Given the description of an element on the screen output the (x, y) to click on. 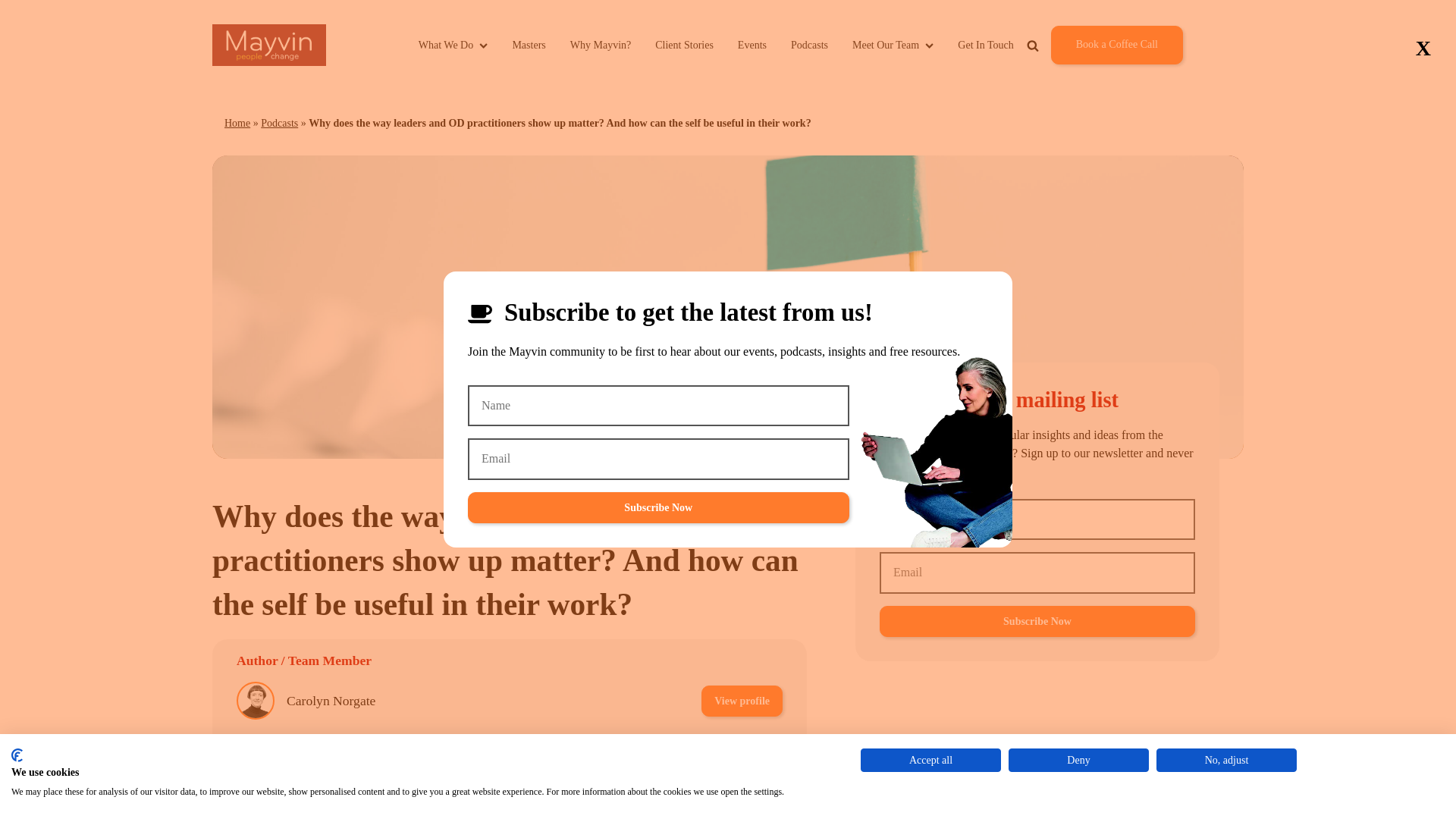
Get In Touch (985, 45)
Why Mayvin? (600, 45)
Search (1078, 80)
Organisation Development (513, 805)
Podcasts (279, 122)
Podcast (642, 805)
Book a Coffee Call (1116, 44)
X (1423, 48)
Martin Saville (324, 753)
What We Do (453, 45)
Subscribe Now (657, 507)
Events (752, 45)
Client Stories (684, 45)
Home (237, 122)
View profile (742, 753)
